Given the description of an element on the screen output the (x, y) to click on. 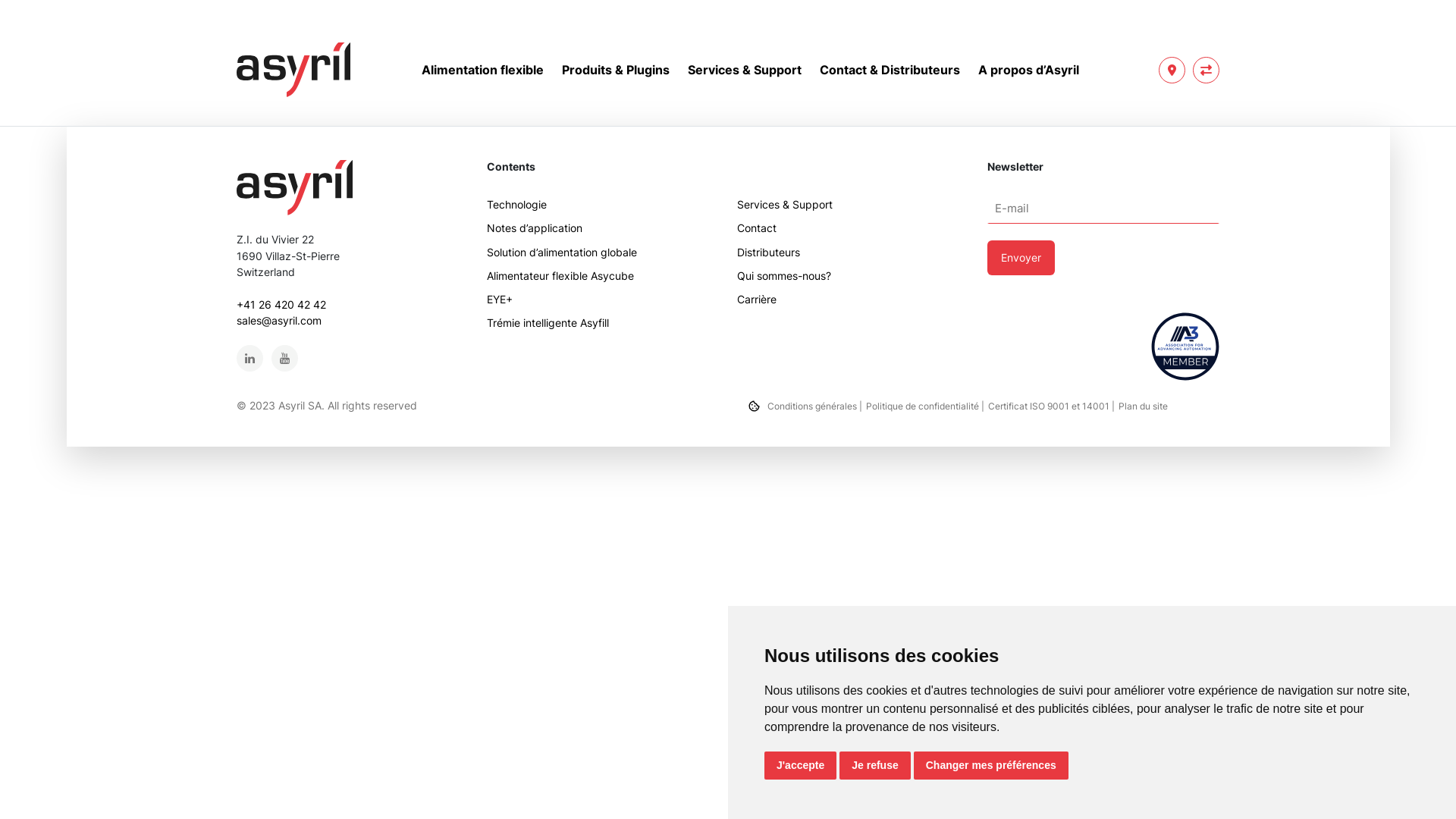
Technologie Element type: text (602, 204)
Alimentateur flexible Asycube Element type: text (602, 275)
Asyril Element type: hover (293, 69)
Contact & Distributeurs Element type: text (889, 69)
sales@asyril.com Element type: text (278, 319)
J'accepte Element type: text (800, 765)
Distributeurs Element type: text (853, 251)
Je refuse Element type: text (874, 765)
Envoyer Element type: text (1020, 257)
Plan du site Element type: text (1142, 405)
Contact Element type: hover (1171, 69)
Certificat ISO 9001 et 14001 Element type: text (1051, 405)
Services & Support Element type: text (743, 69)
Contact Element type: text (853, 227)
fileexchange server Element type: hover (1205, 69)
Alimentation flexible Element type: text (482, 69)
Qui sommes-nous? Element type: text (853, 275)
Produits & Plugins Element type: text (614, 69)
EYE+ Element type: text (602, 298)
+41 26 420 42 42 Element type: text (281, 304)
Services & Support Element type: text (853, 204)
